Given the description of an element on the screen output the (x, y) to click on. 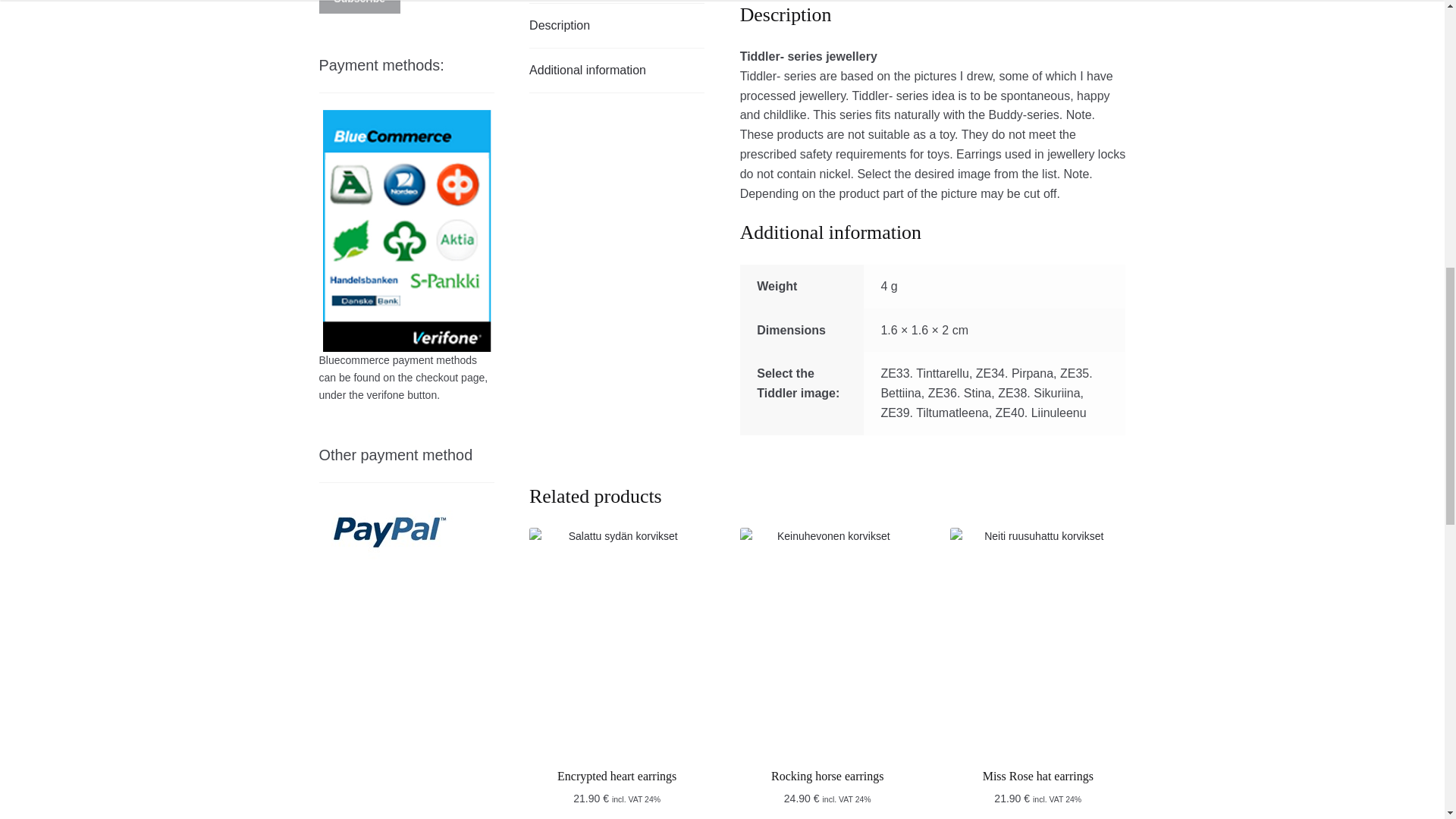
Subscribe (359, 6)
